Given the description of an element on the screen output the (x, y) to click on. 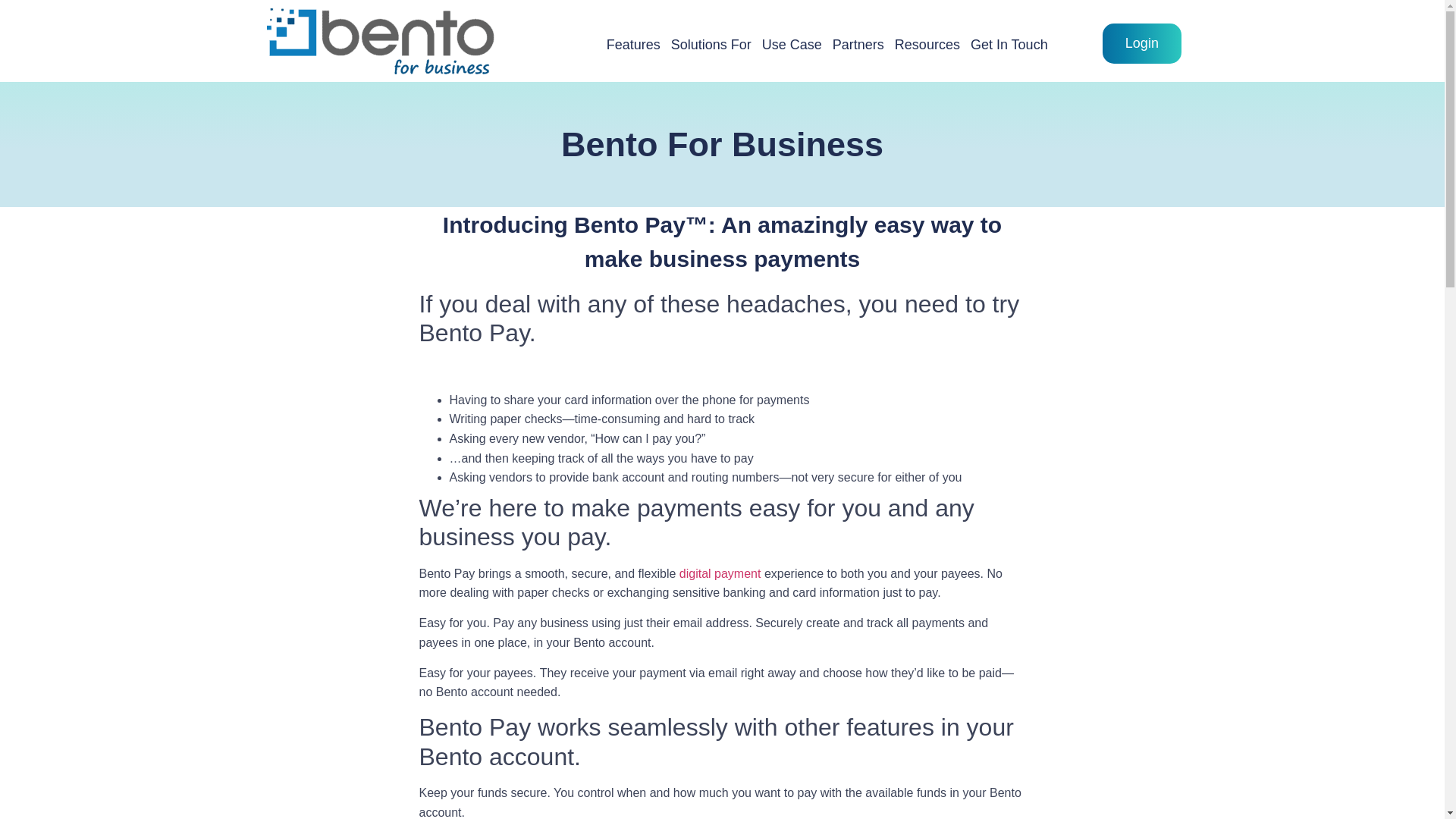
Use Case (792, 44)
Resources (927, 44)
Solutions For (711, 44)
Features (633, 44)
Partners (858, 44)
Get In Touch (1008, 44)
